Given the description of an element on the screen output the (x, y) to click on. 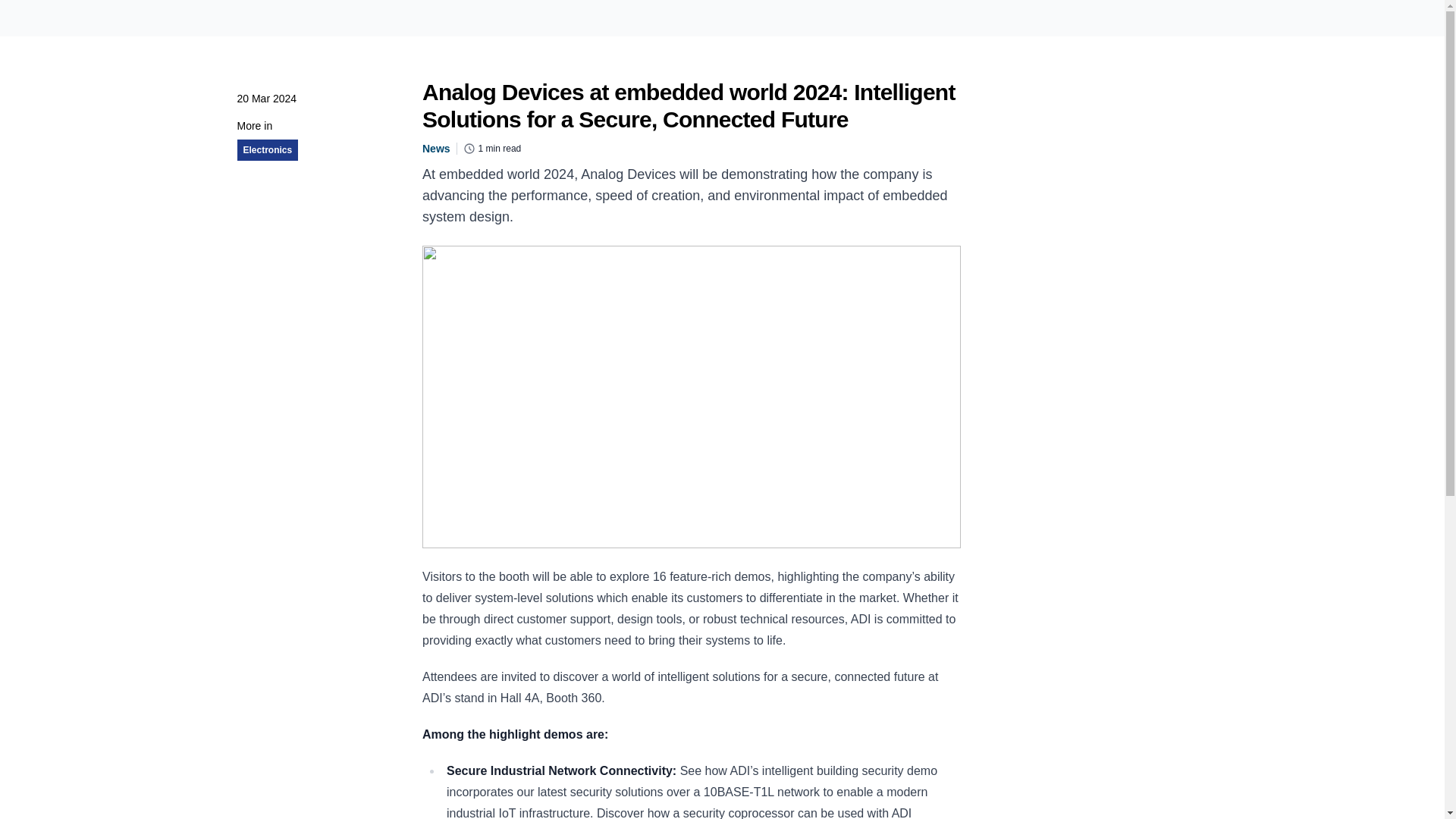
Electronics (267, 149)
News (435, 148)
